Given the description of an element on the screen output the (x, y) to click on. 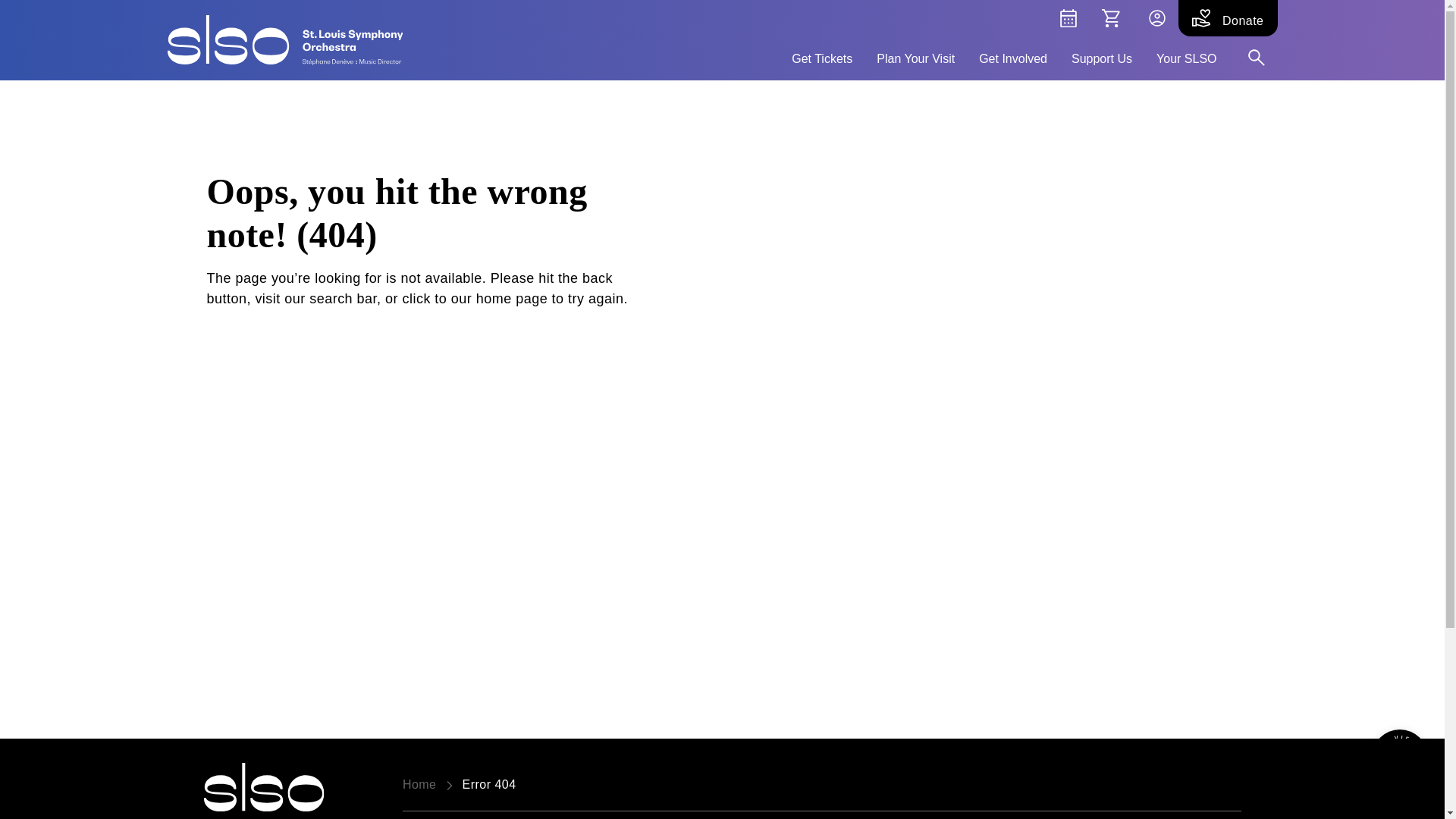
View Cart (1110, 18)
Get Involved (1012, 56)
Get Tickets (821, 56)
Account (1156, 18)
Plan Your Visit (915, 56)
View Events (1399, 757)
Support Us (1101, 56)
View Events (1067, 18)
